Given the description of an element on the screen output the (x, y) to click on. 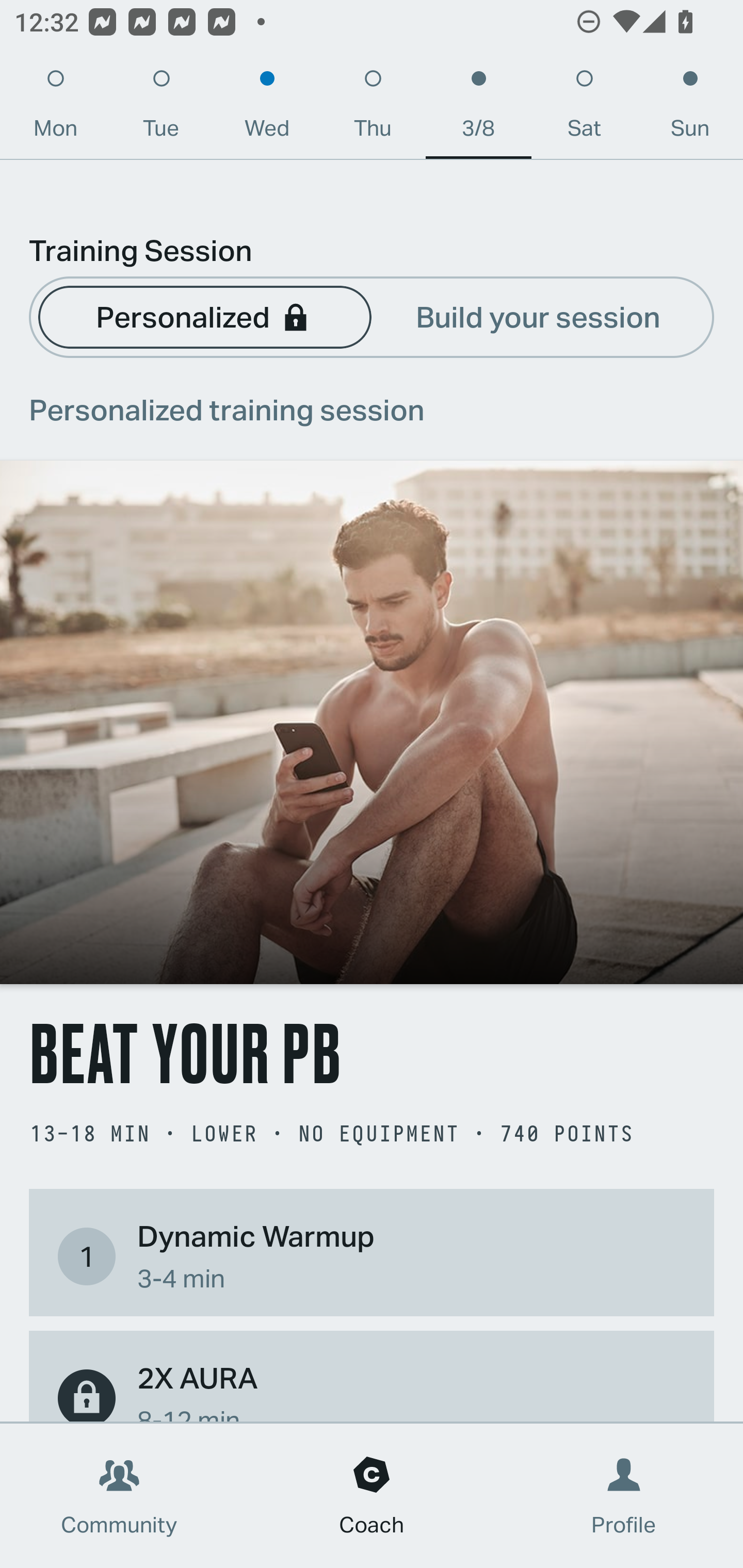
Mon (55, 108)
Tue (160, 108)
Wed (266, 108)
Thu (372, 108)
3/8 (478, 108)
Sat (584, 108)
Sun (690, 108)
Personalized (204, 315)
Build your session (538, 315)
1 Dynamic Warmup 3-4 min (371, 1256)
2X AURA 8-12 min (371, 1388)
Community (119, 1495)
Profile (624, 1495)
